Given the description of an element on the screen output the (x, y) to click on. 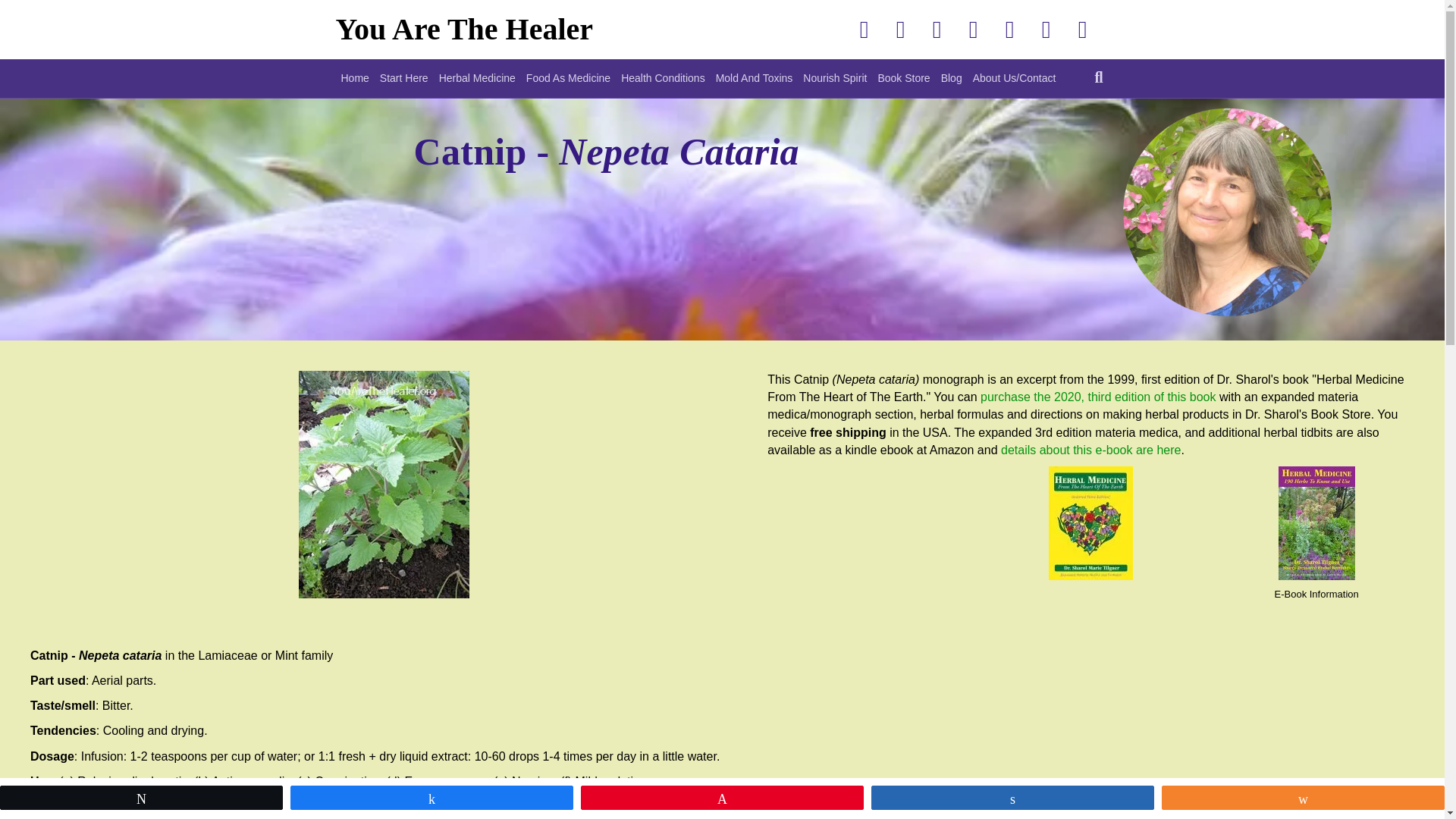
Facebook (863, 29)
Home (354, 78)
Pinterest (936, 29)
Youtube (973, 29)
Rss (1082, 29)
Health Conditions (662, 78)
Photo of Sharol Tilgner (1246, 226)
Twitter (900, 29)
Food As Medicine (568, 78)
Herbal Medicine (477, 78)
Instagram (1009, 29)
Blogger (1045, 29)
Start Here (403, 78)
You Are The Healer (516, 29)
